Given the description of an element on the screen output the (x, y) to click on. 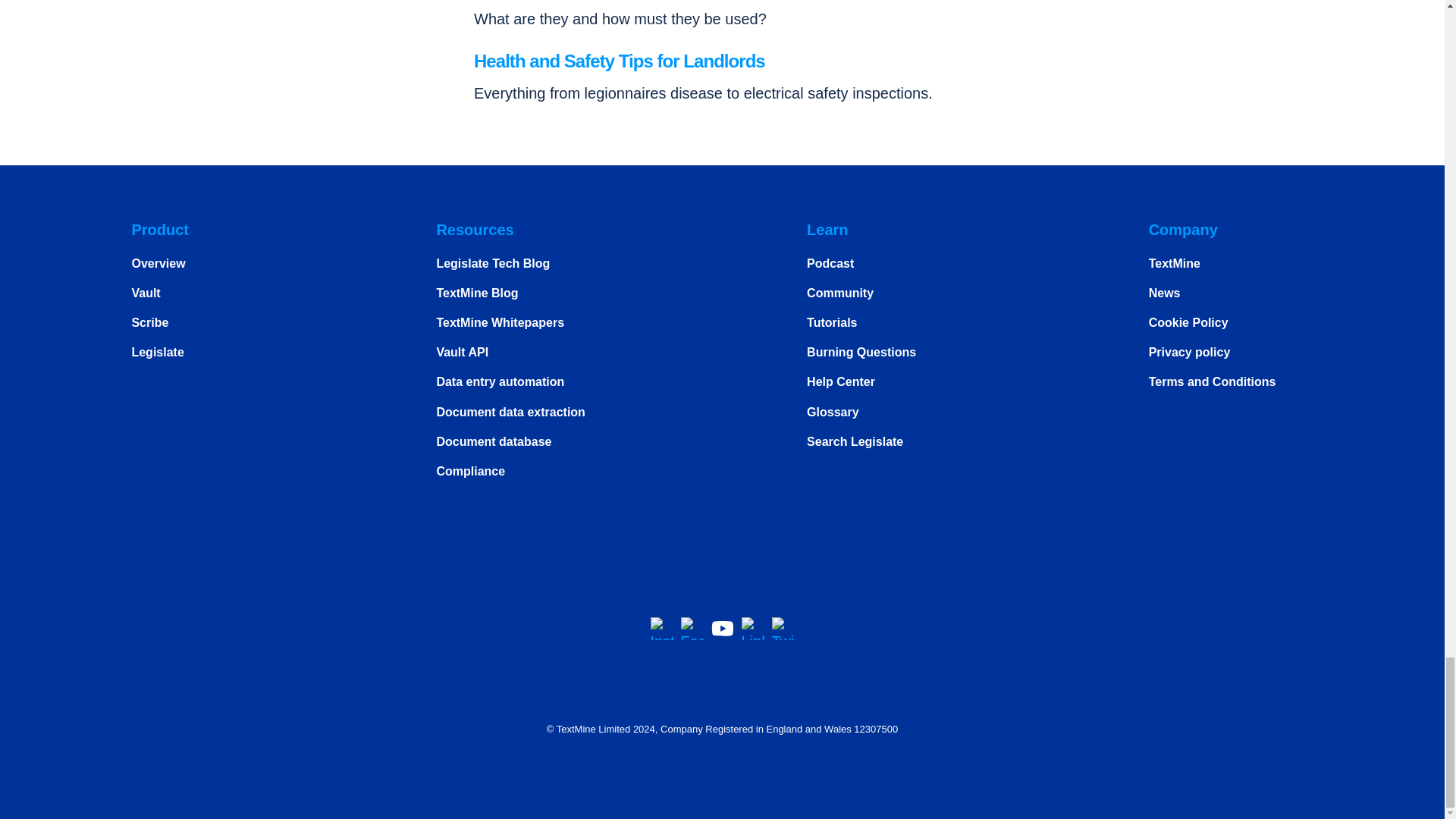
Scribe (149, 322)
Vault (145, 292)
Overview (157, 263)
